Given the description of an element on the screen output the (x, y) to click on. 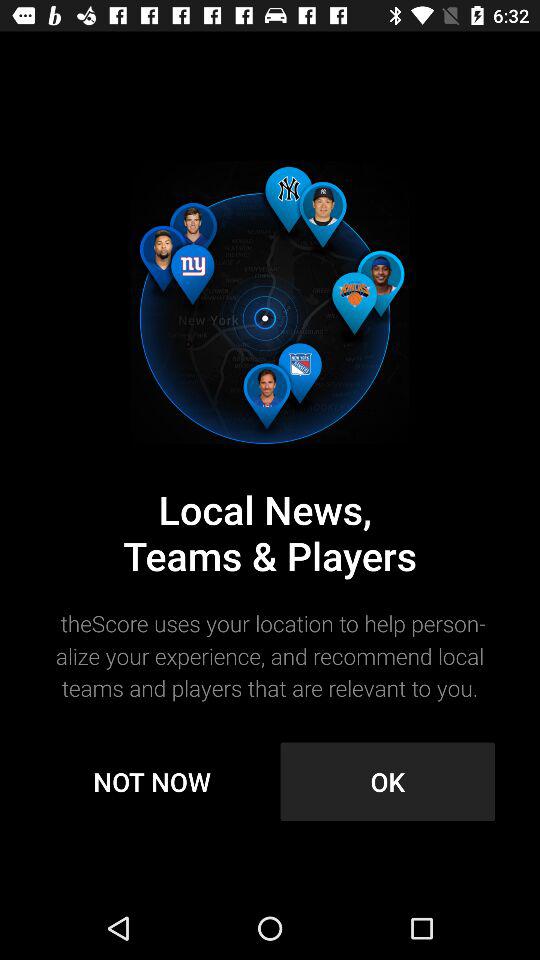
press the not now item (152, 781)
